Given the description of an element on the screen output the (x, y) to click on. 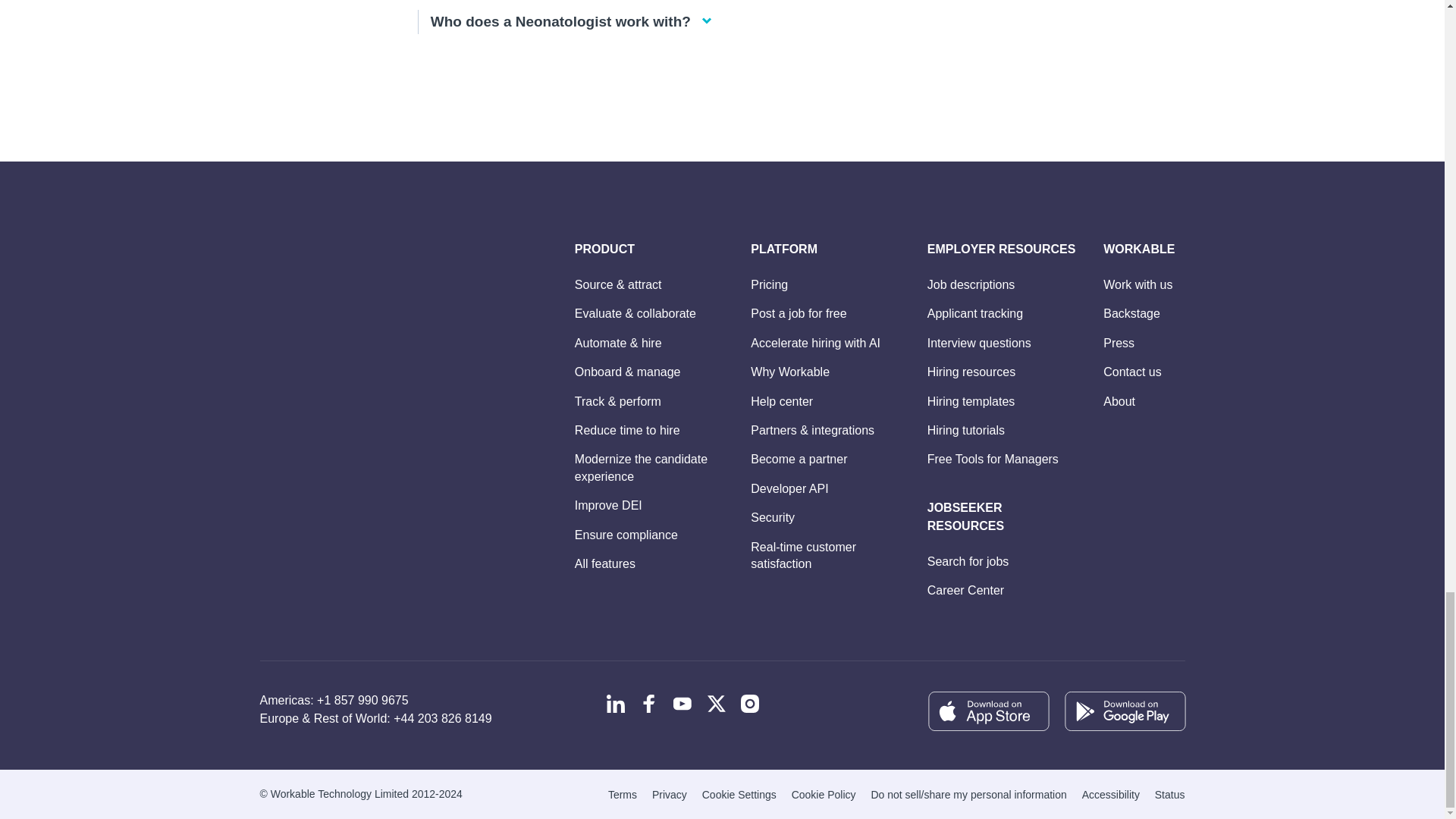
Workable on Youtube (681, 703)
Download Workable on Google Play (1123, 711)
Workable on Instagram (749, 703)
Download Workable on App Store (987, 711)
Workable on X (716, 703)
Workable on Linkedin (615, 703)
Workable on Facebook (649, 703)
